Given the description of an element on the screen output the (x, y) to click on. 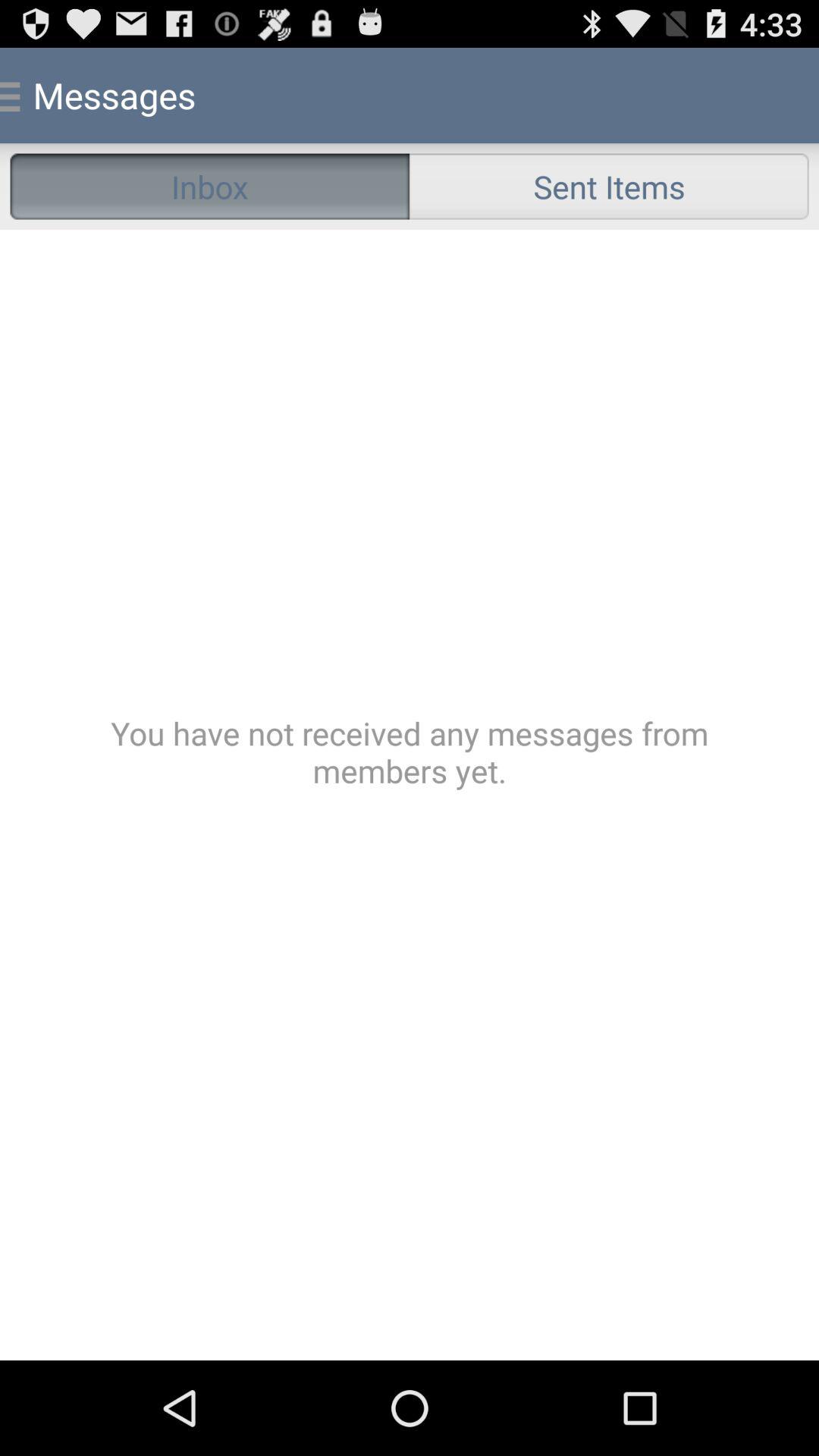
check available messages (409, 794)
